Given the description of an element on the screen output the (x, y) to click on. 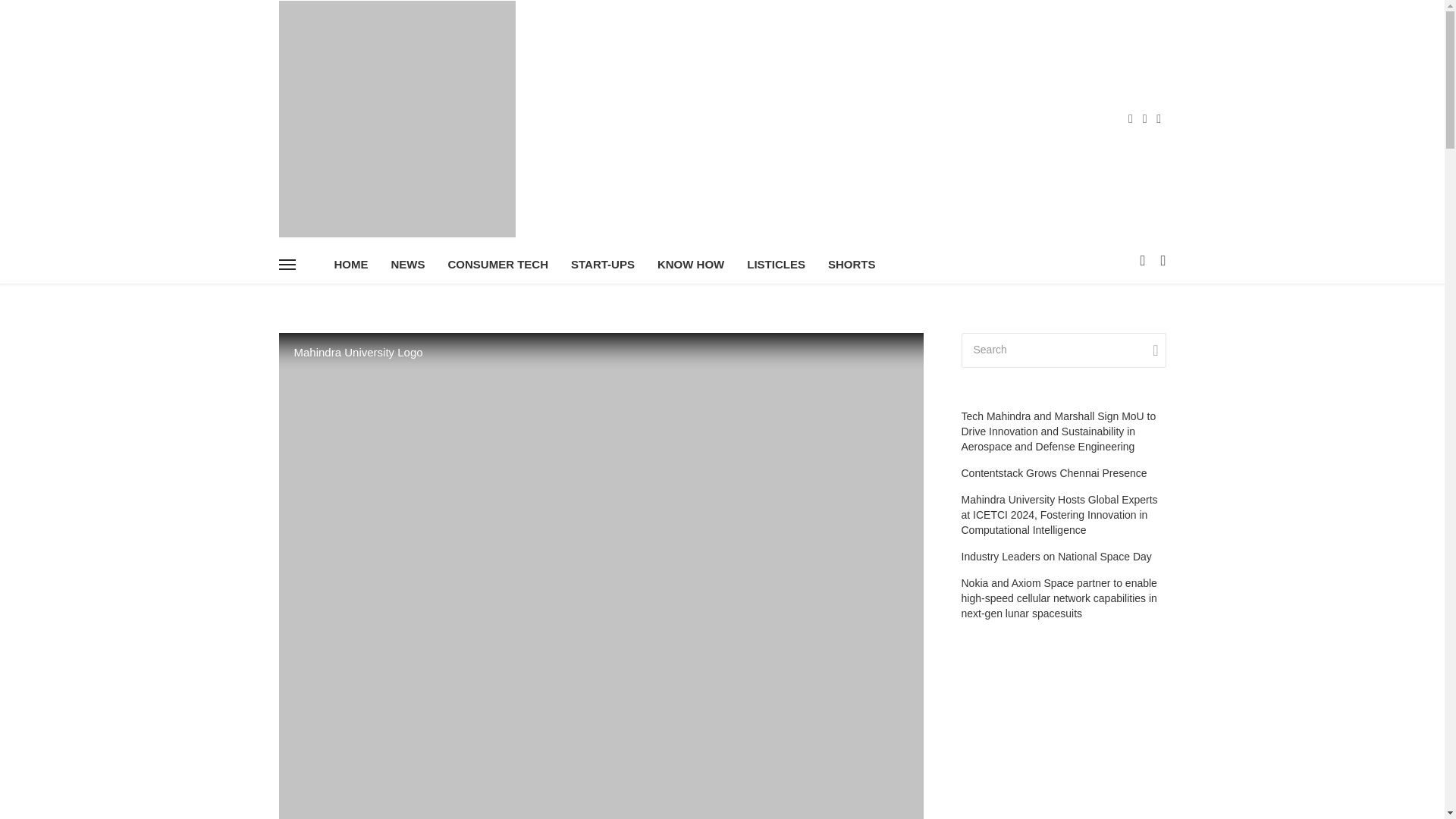
KNOW HOW (690, 264)
NEWS (406, 264)
CONSUMER TECH (498, 264)
HOME (351, 264)
LISTICLES (775, 264)
SHORTS (851, 264)
START-UPS (602, 264)
